Given the description of an element on the screen output the (x, y) to click on. 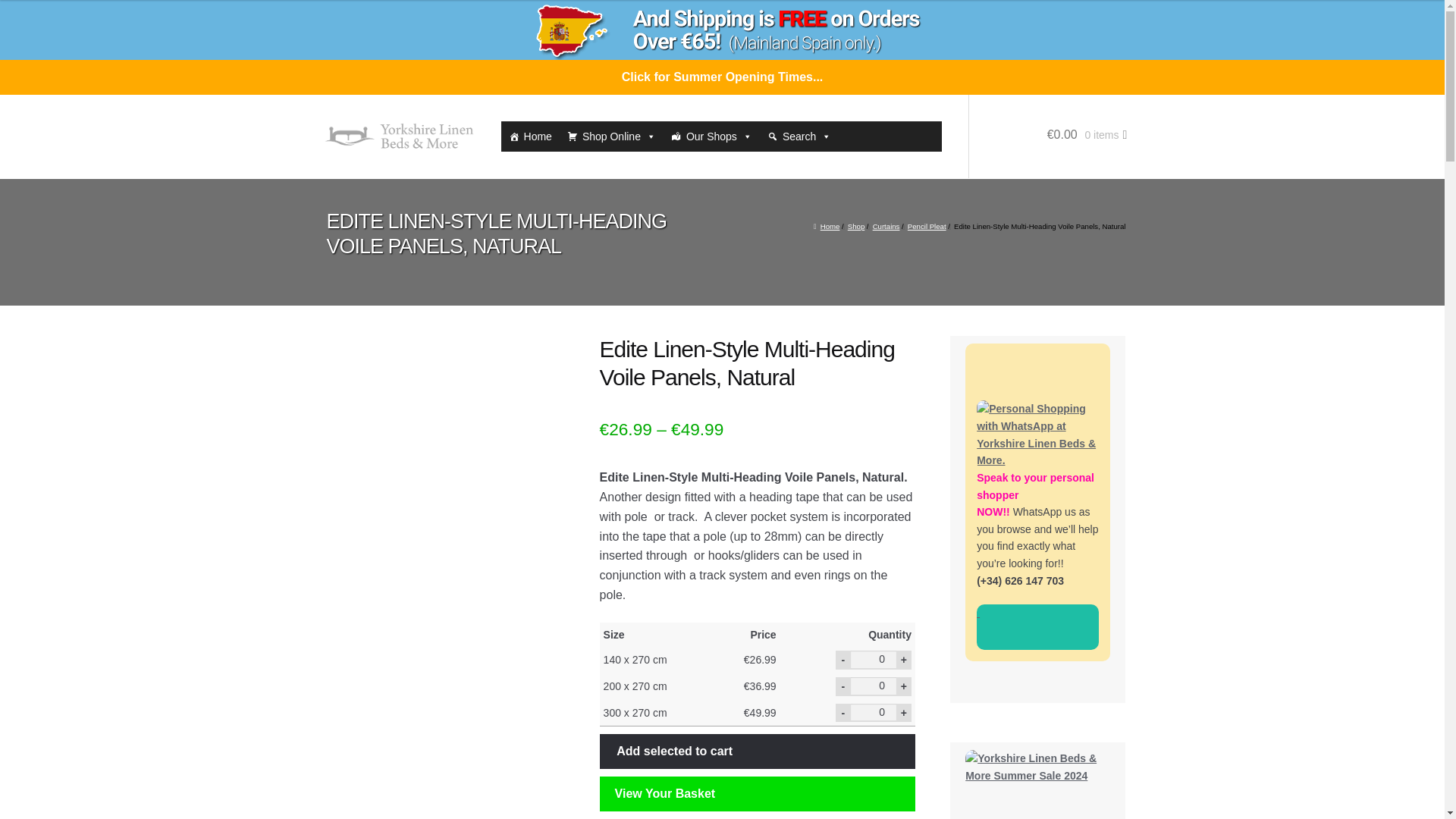
Qty (873, 712)
Qty (873, 659)
Qty (873, 685)
0 (873, 659)
View your shopping basket (1047, 150)
Our Shops (711, 136)
0 (873, 685)
Home (529, 136)
Shop Online (611, 136)
0 (873, 712)
Call us for Personal Shopping on Whatsapp Now! (1037, 627)
